Given the description of an element on the screen output the (x, y) to click on. 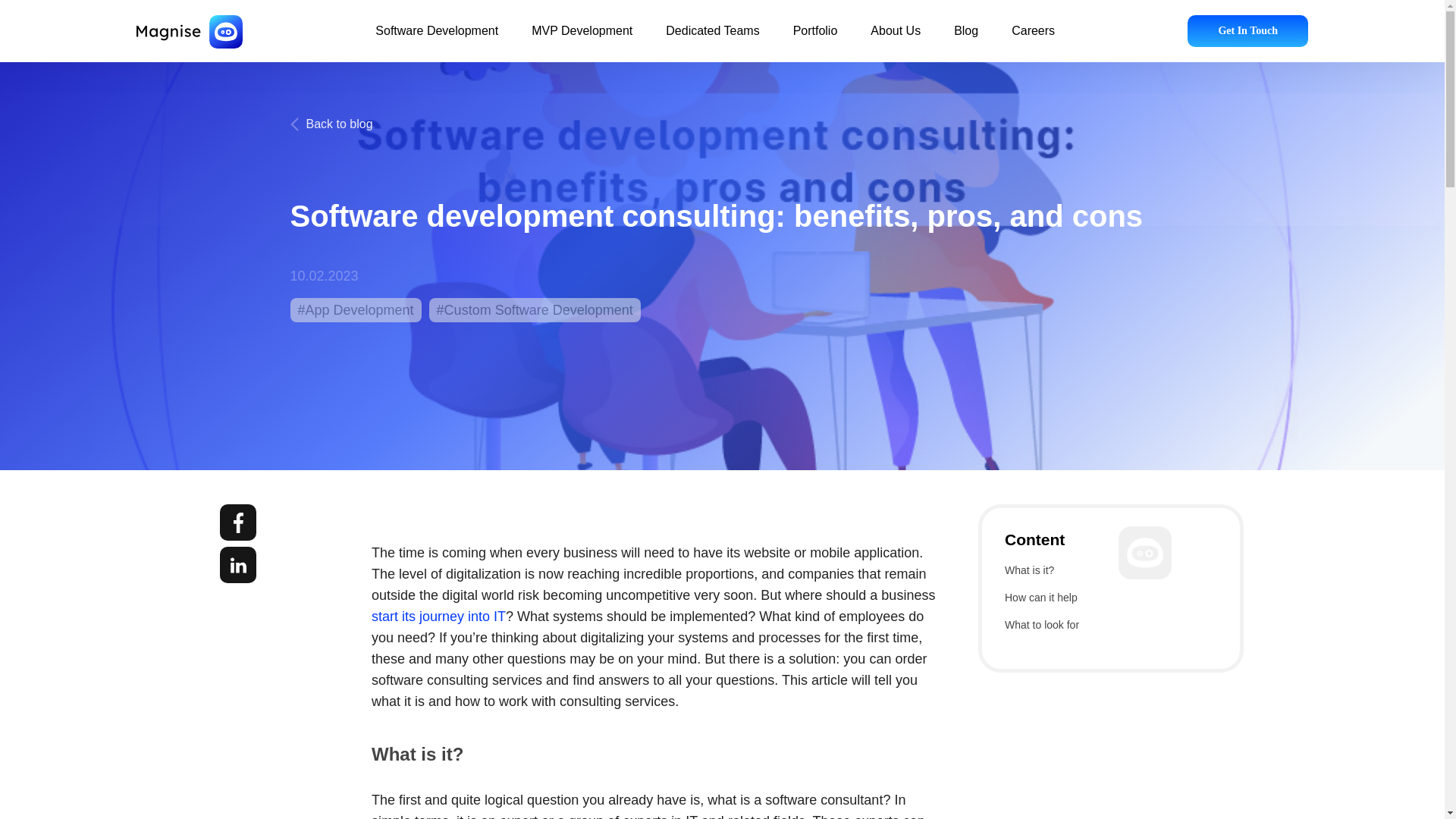
Dedicated Teams (711, 38)
Software Development (436, 38)
start its journey into IT (438, 616)
MVP Development (581, 38)
Portfolio (815, 38)
About Us (895, 38)
Get In Touch (1247, 30)
Careers (1032, 38)
